Given the description of an element on the screen output the (x, y) to click on. 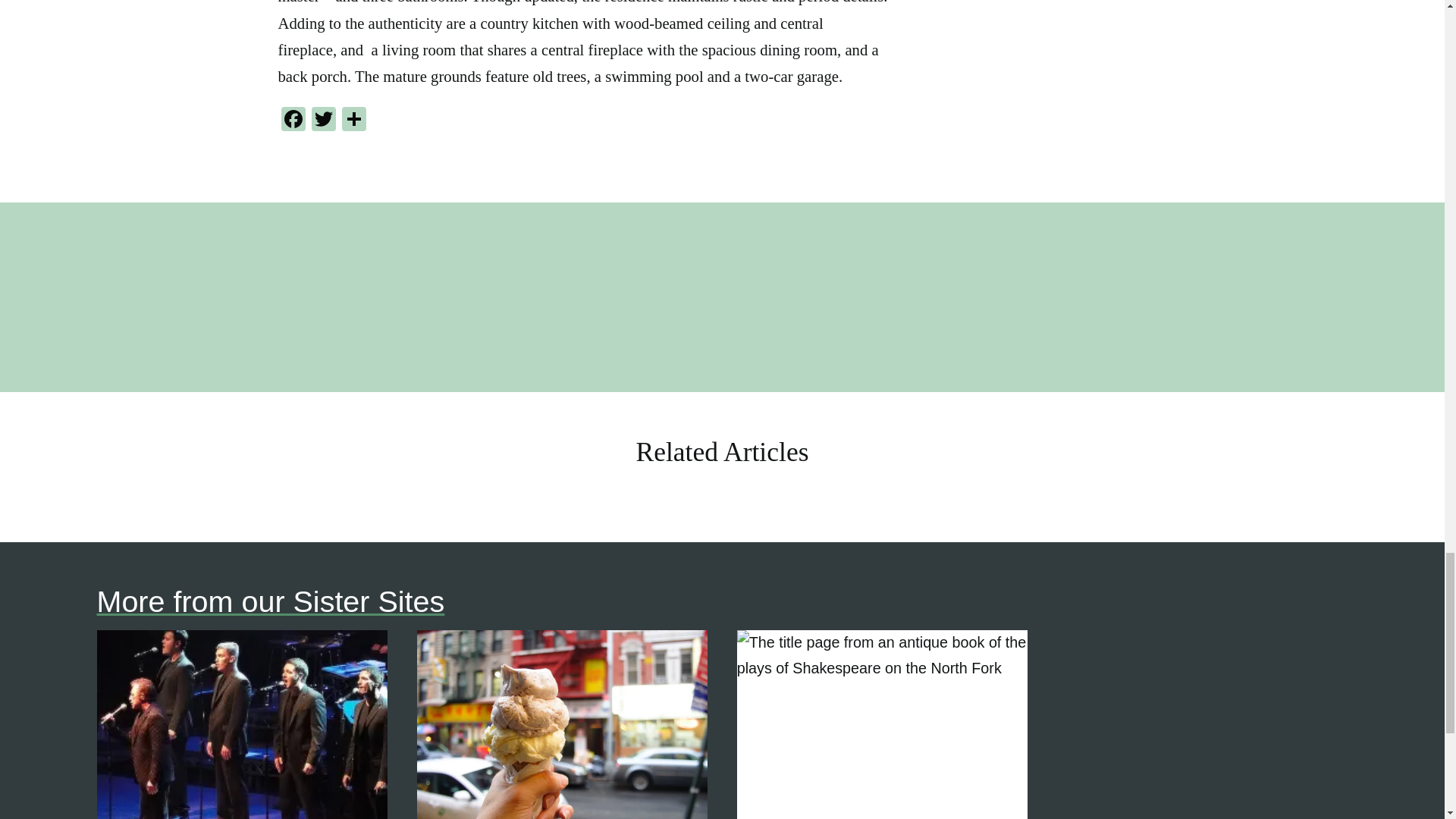
Twitter (322, 121)
Facebook (292, 121)
